Given the description of an element on the screen output the (x, y) to click on. 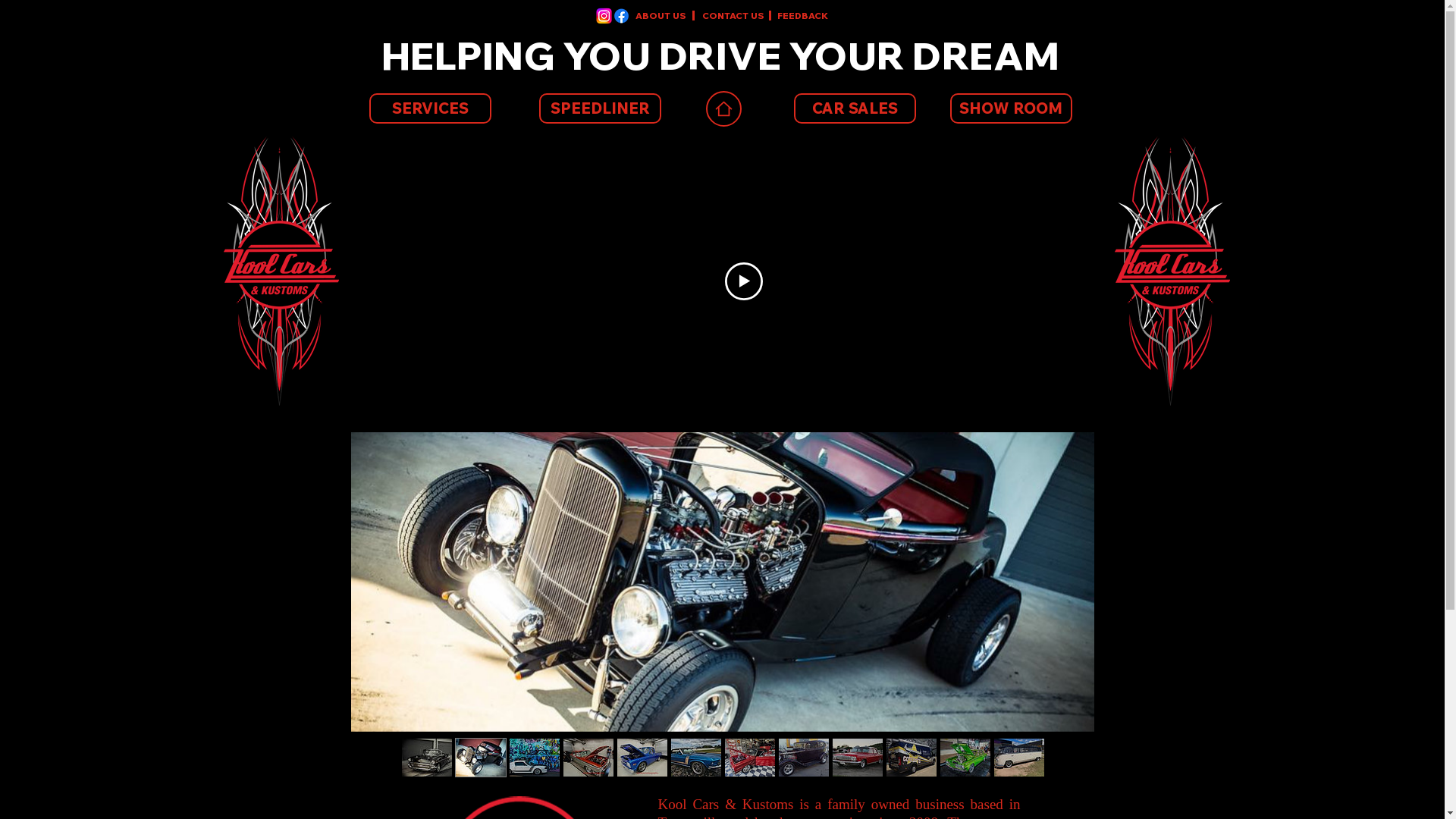
Instagram-Logo.png Element type: hover (603, 15)
Shirt 1 - Front V2.png Element type: hover (1172, 270)
ABOUT US Element type: text (681, 16)
SHOW ROOM Element type: text (1010, 108)
SERVICES Element type: text (429, 108)
CONTACT US Element type: text (747, 16)
CAR SALES Element type: text (854, 108)
SPEEDLINER Element type: text (599, 108)
Shirt 1 - Front V2.png Element type: hover (280, 270)
FEEDBACK Element type: text (822, 16)
